Given the description of an element on the screen output the (x, y) to click on. 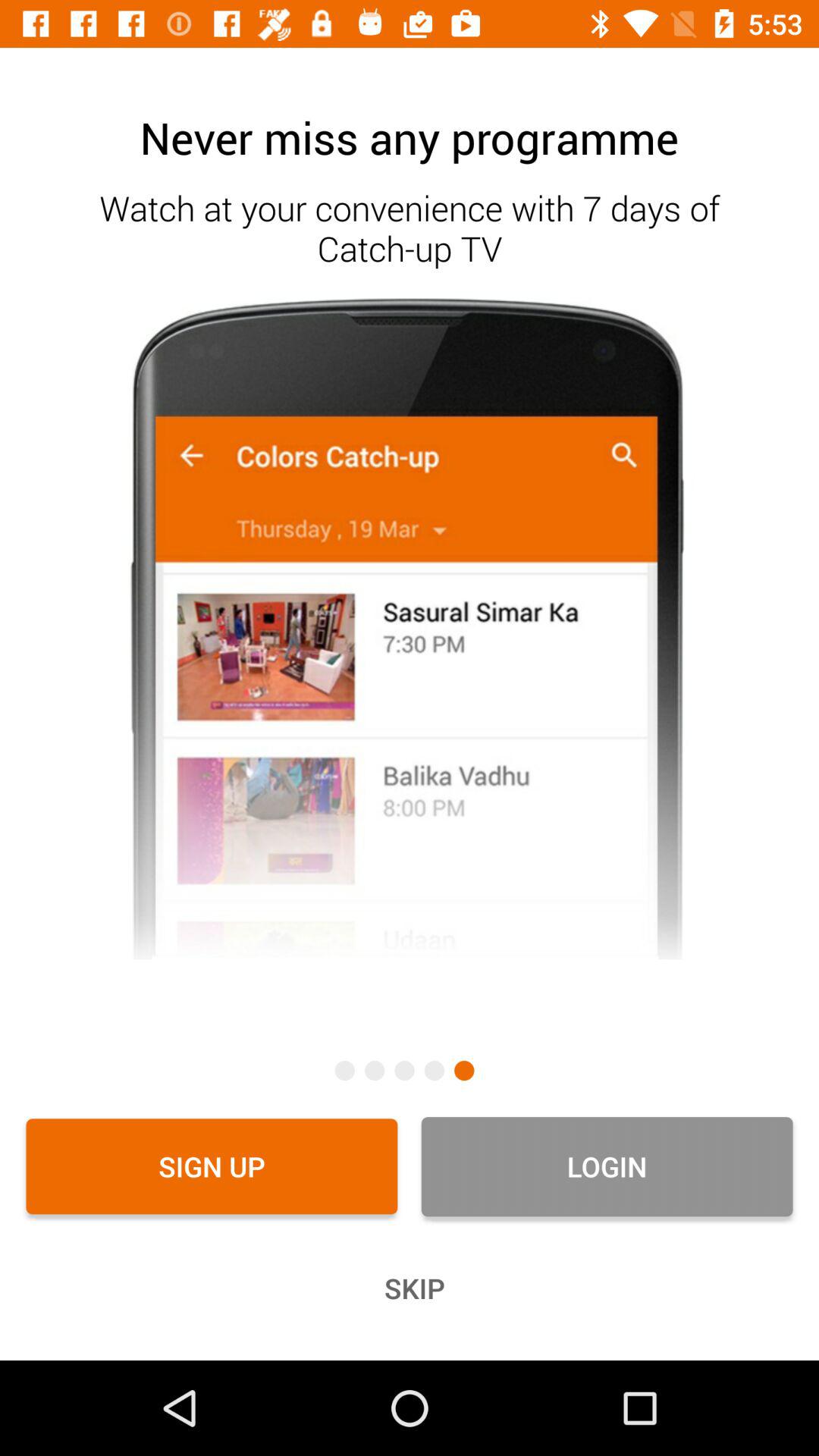
launch icon next to sign up icon (606, 1166)
